Given the description of an element on the screen output the (x, y) to click on. 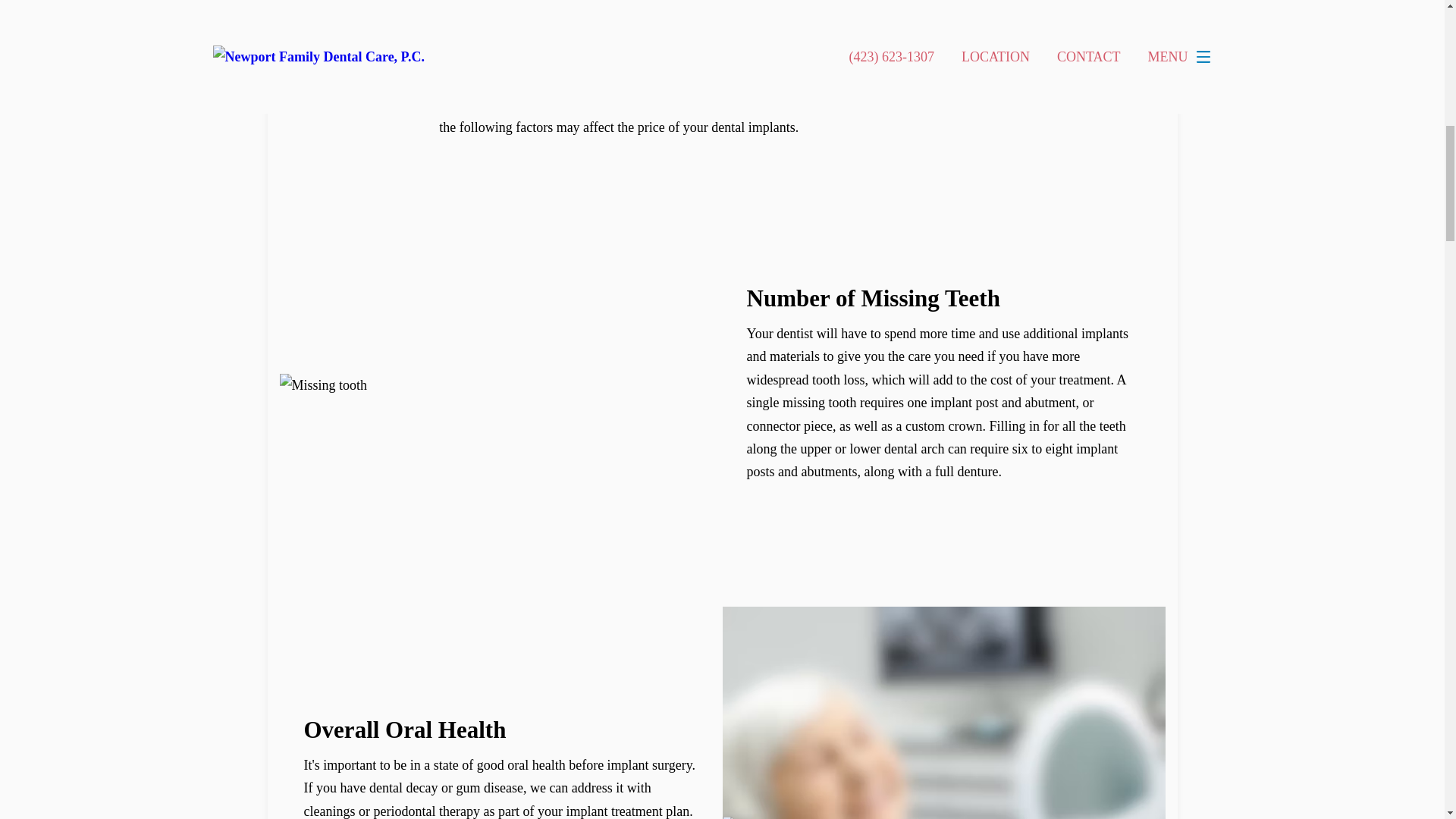
initial consultation (563, 105)
dental implant (820, 23)
